Given the description of an element on the screen output the (x, y) to click on. 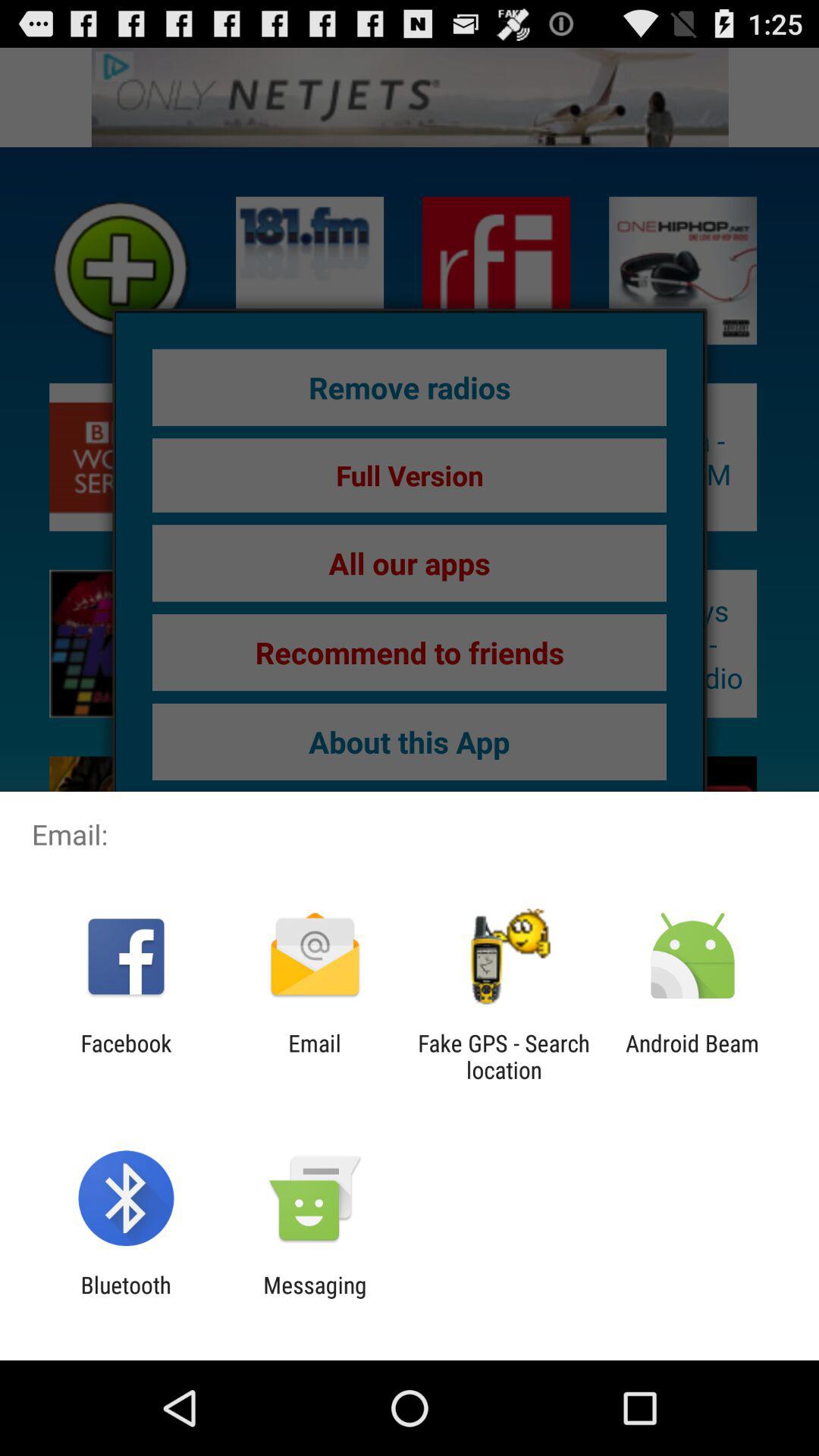
tap the facebook item (125, 1056)
